Given the description of an element on the screen output the (x, y) to click on. 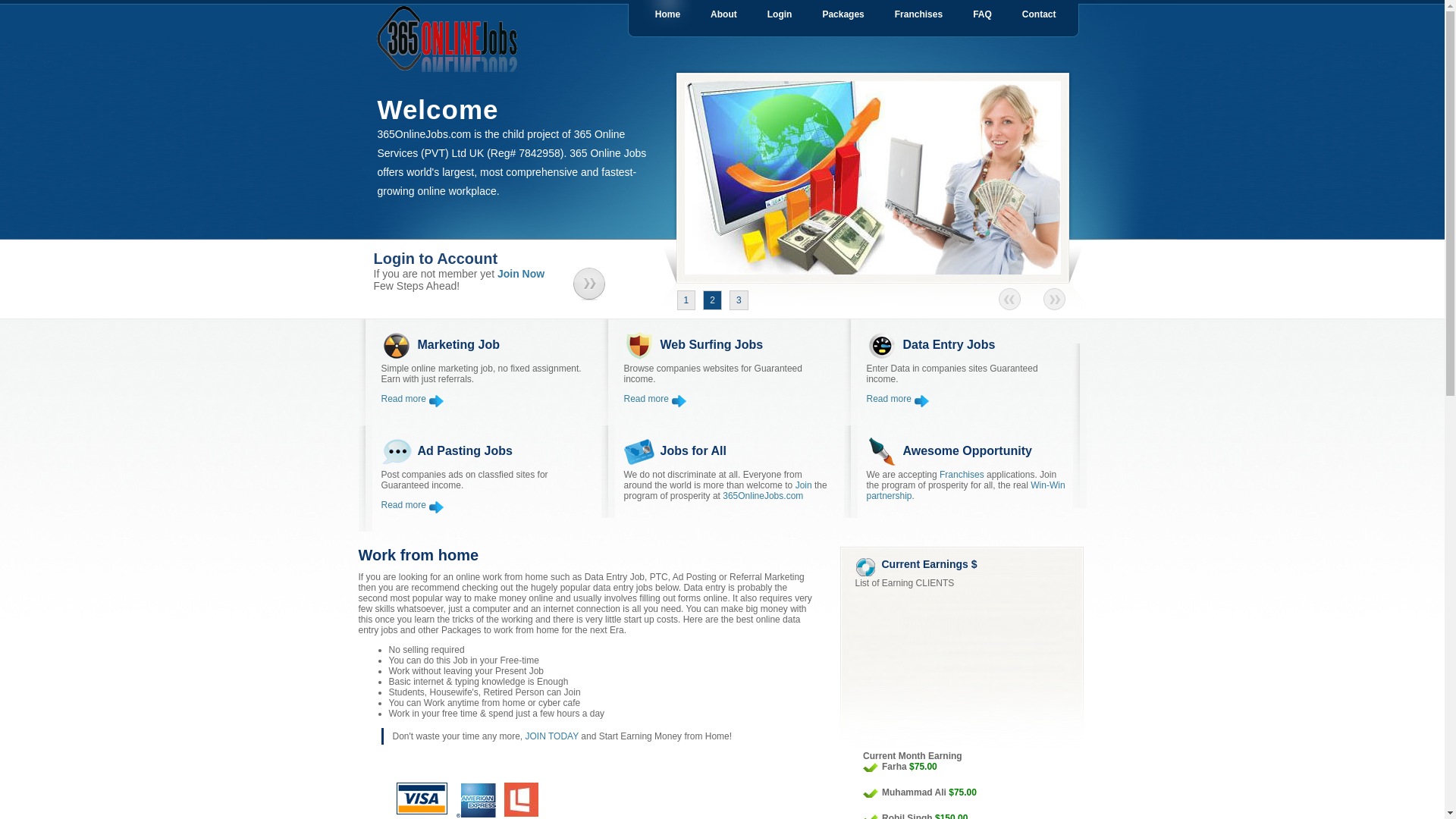
Packages Element type: text (842, 14)
Join Element type: text (803, 485)
Read more Element type: text (411, 504)
Read more Element type: text (897, 398)
Win-Win partnership Element type: text (965, 490)
Franchises Element type: text (918, 14)
About Element type: text (723, 14)
FAQ Element type: text (982, 14)
365OnlineJobs.com Element type: text (762, 495)
Home Element type: text (667, 14)
Login to Account Element type: text (467, 258)
Read more Element type: text (411, 398)
Read more Element type: text (654, 398)
Join Now Element type: text (520, 273)
Contact Element type: text (1039, 14)
Login Element type: text (779, 14)
Franchises Element type: text (961, 474)
JOIN TODAY Element type: text (551, 736)
